Given the description of an element on the screen output the (x, y) to click on. 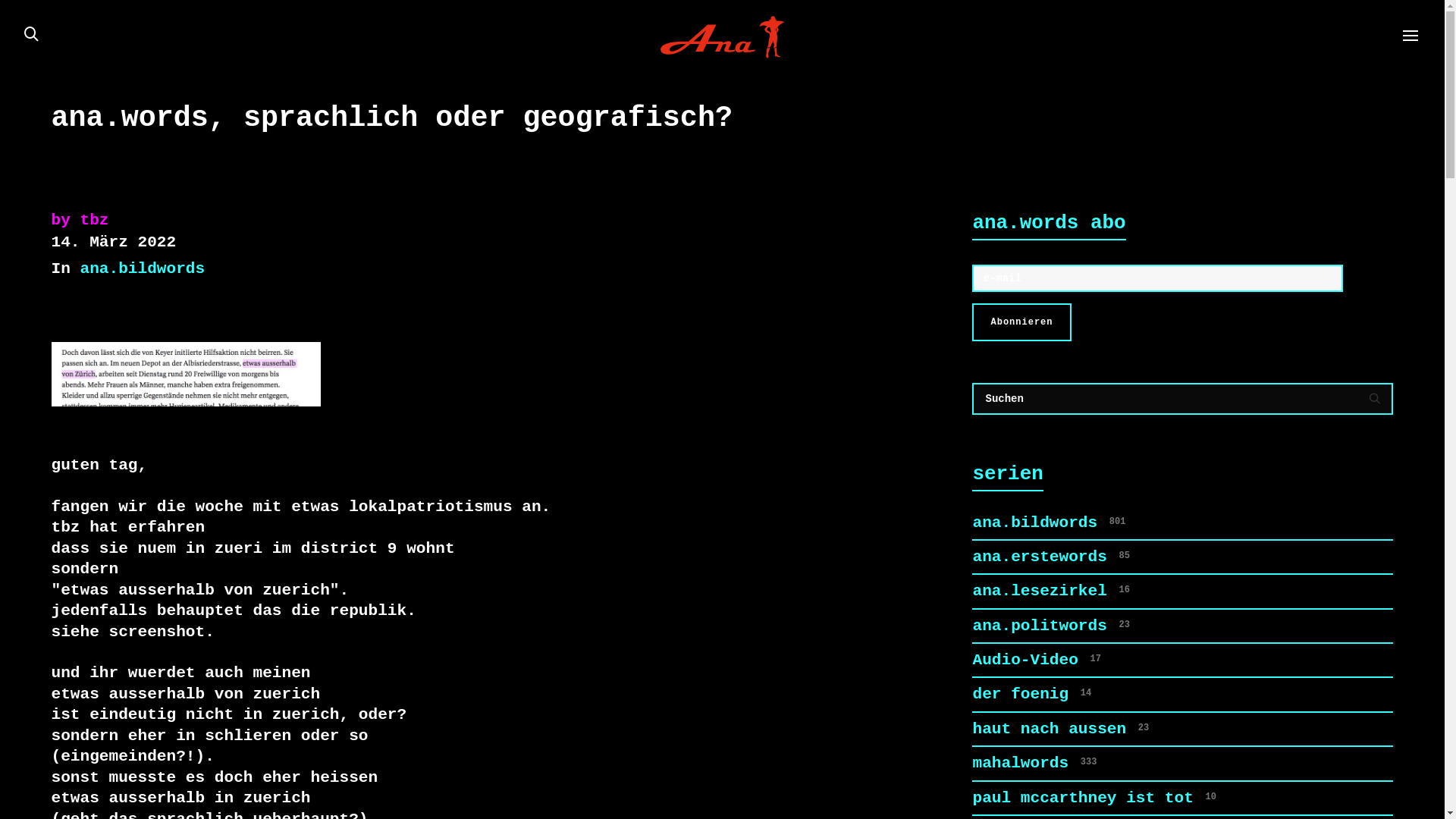
mahalwords 333 Element type: text (1182, 762)
Search Element type: text (1182, 424)
Audio-Video 17 Element type: text (1182, 659)
Abonnieren Element type: text (1021, 322)
der foenig 14 Element type: text (1182, 693)
ana.erstewords 85 Element type: text (1182, 556)
tbz Element type: text (94, 219)
ana.politwords 23 Element type: text (1182, 625)
ana.bildwords Element type: text (142, 268)
ana.lesezirkel 16 Element type: text (1182, 590)
paul mccarthney ist tot 10 Element type: text (1182, 797)
haut nach aussen 23 Element type: text (1182, 728)
ana.bildwords 801 Element type: text (1182, 522)
